Given the description of an element on the screen output the (x, y) to click on. 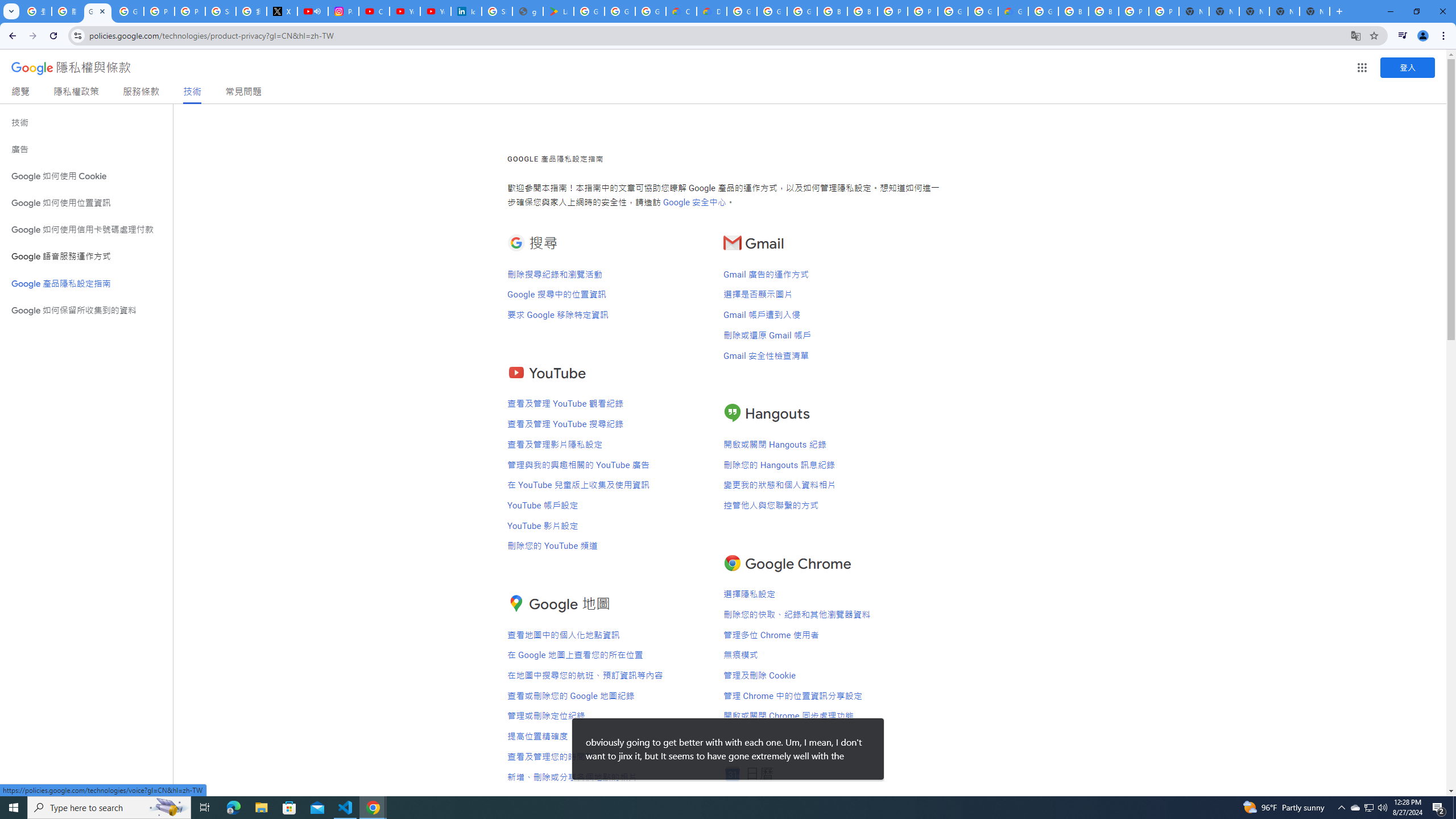
Google Cloud Platform (982, 11)
Privacy Help Center - Policies Help (158, 11)
Browse Chrome as a guest - Computer - Google Chrome Help (832, 11)
